Given the description of an element on the screen output the (x, y) to click on. 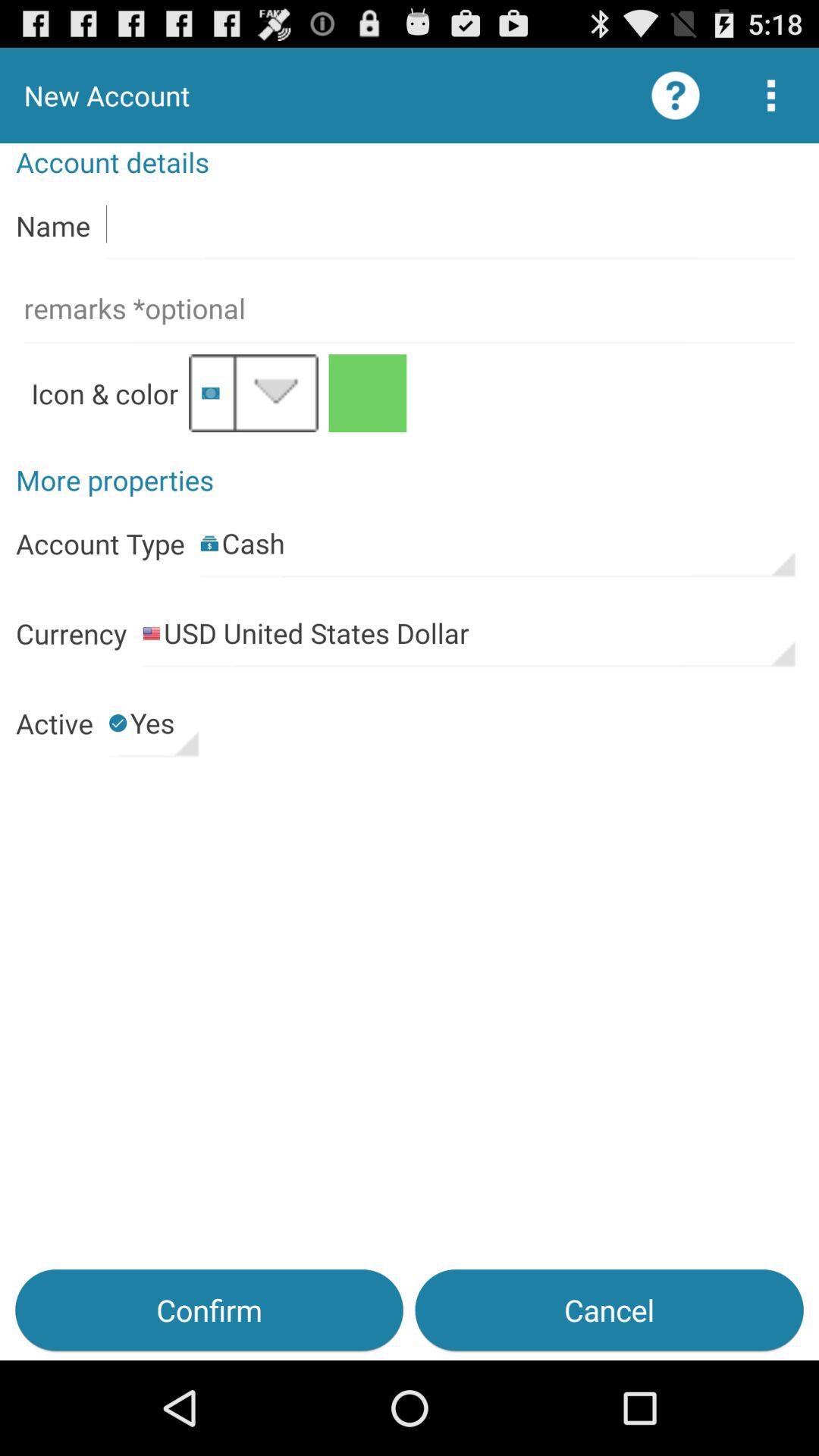
select icon (253, 393)
